Given the description of an element on the screen output the (x, y) to click on. 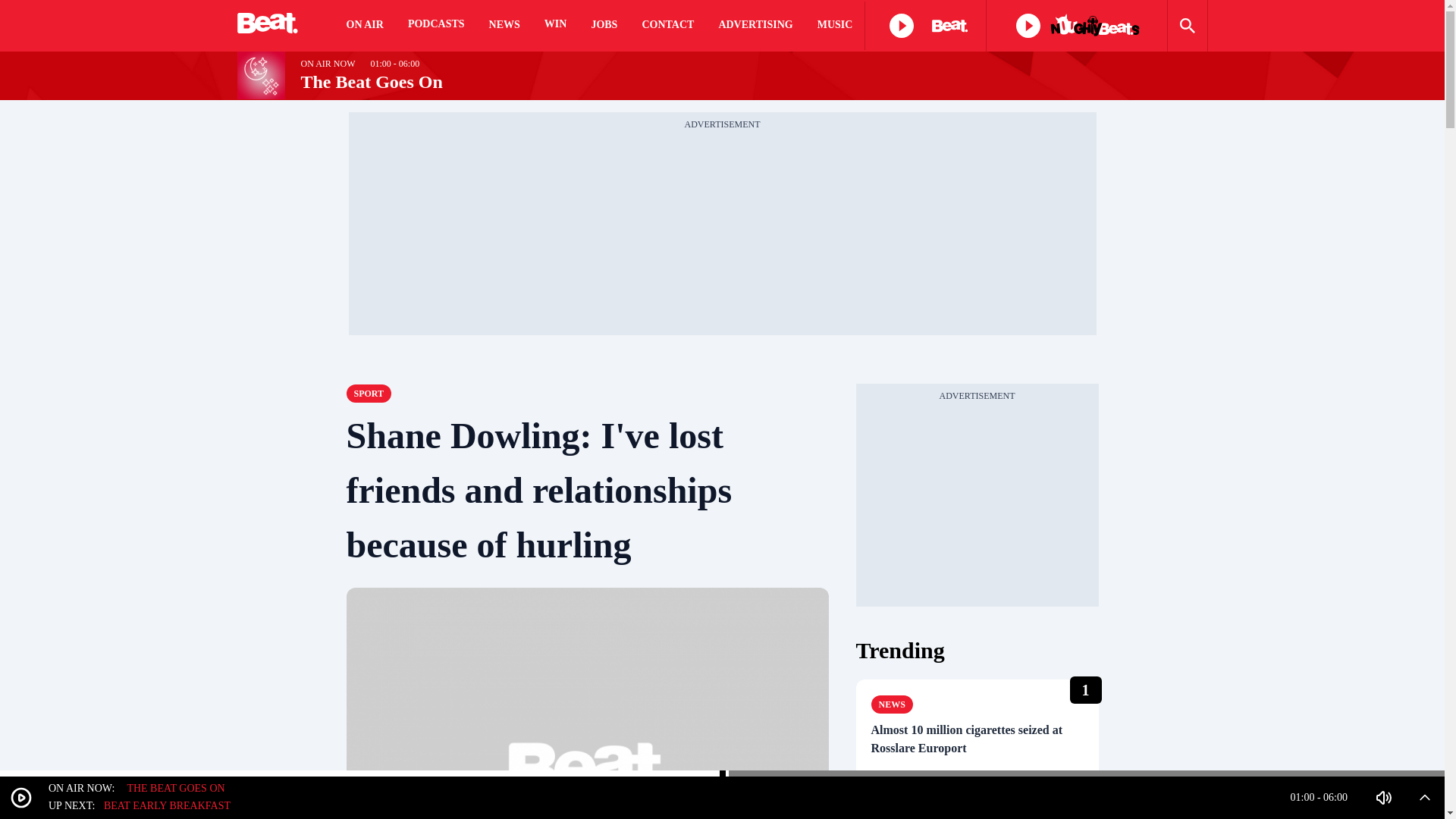
News (891, 704)
PODCASTS (435, 25)
Sport (368, 393)
Almost 10 million cigarettes seized at Rosslare Europort (976, 739)
